Given the description of an element on the screen output the (x, y) to click on. 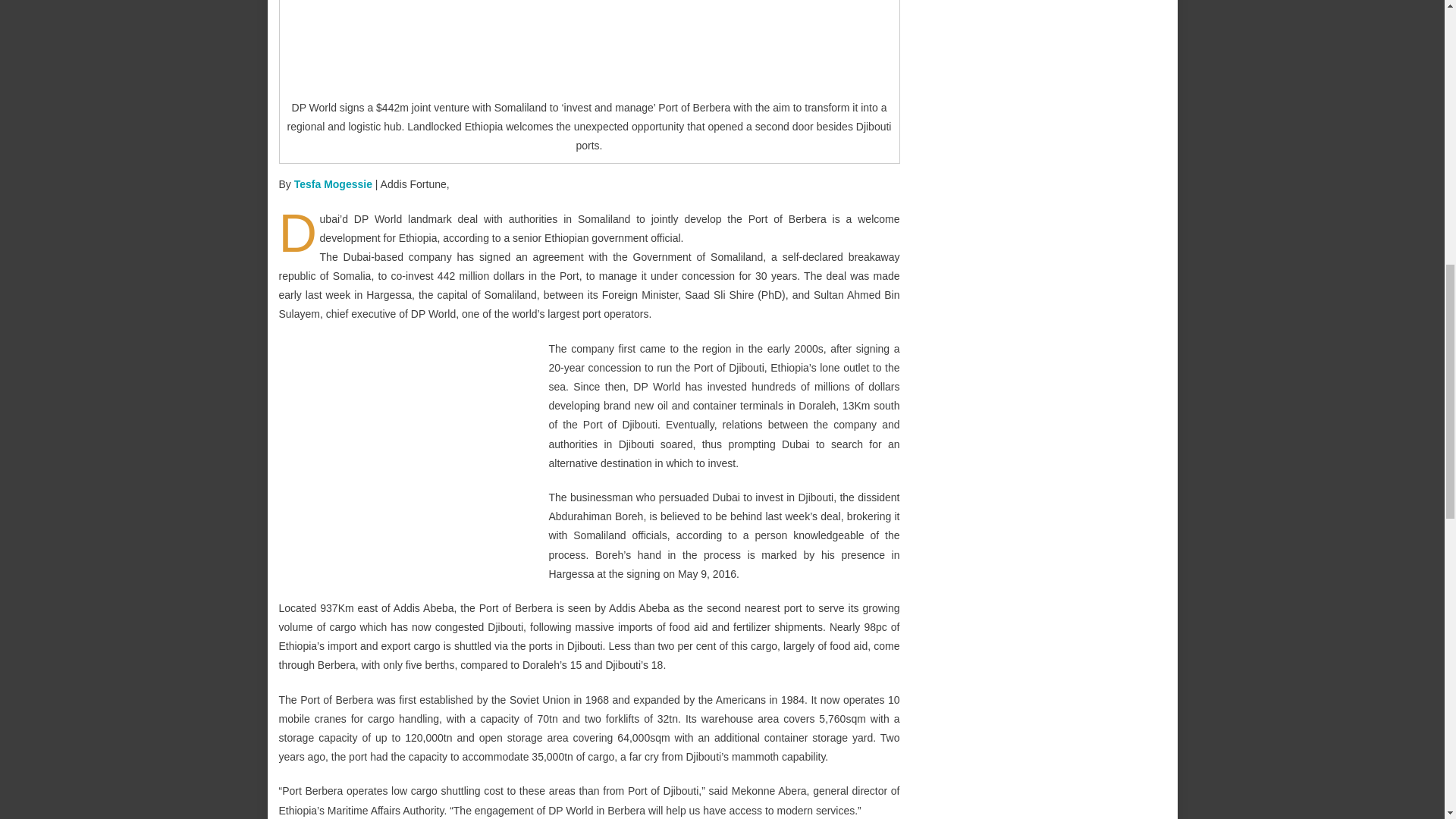
Tesfa Mogessie (333, 184)
